Given the description of an element on the screen output the (x, y) to click on. 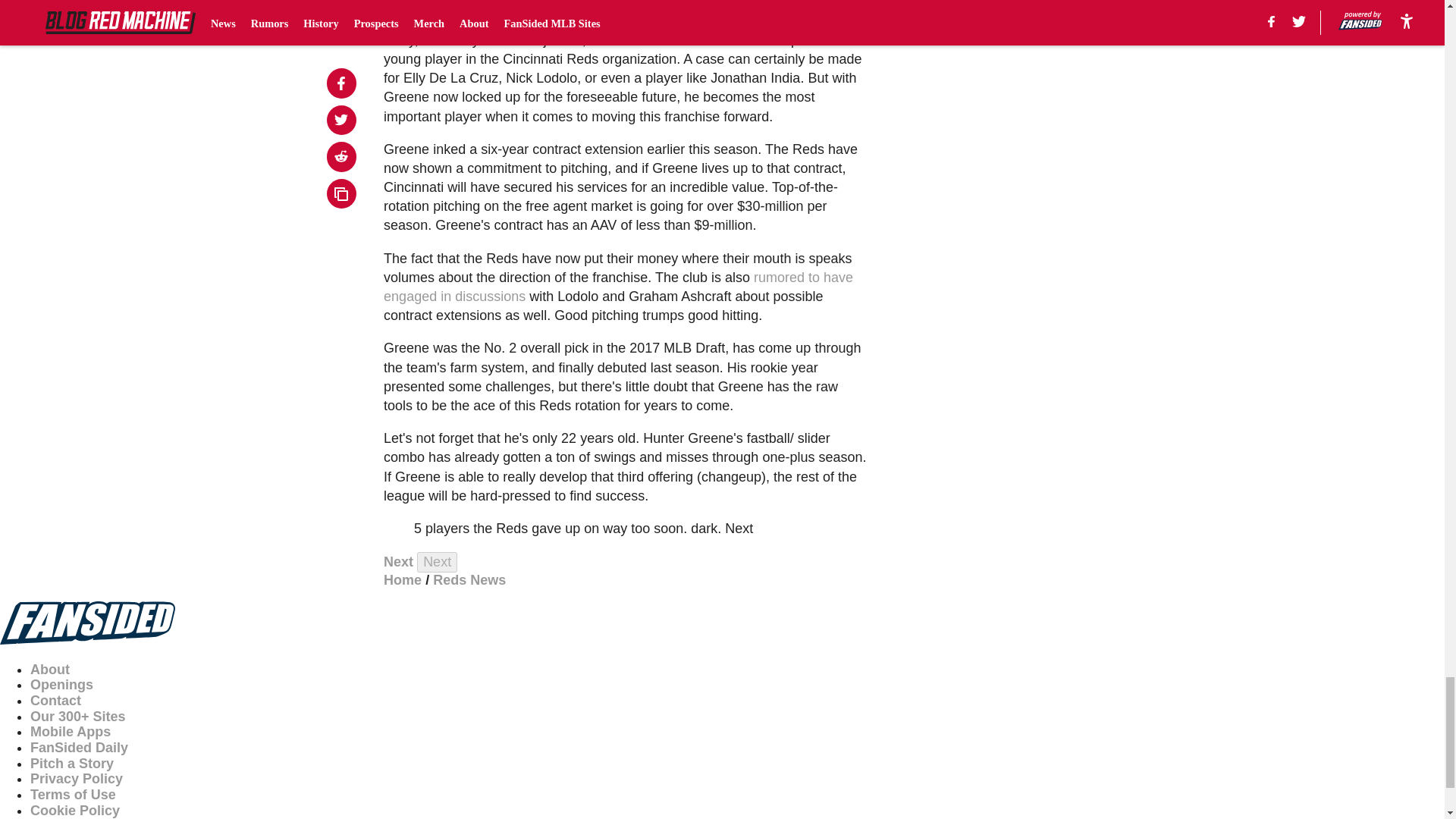
Reds News (468, 580)
Next (436, 562)
rumored to have engaged in discussions (618, 286)
Home (403, 580)
Next (398, 561)
